Given the description of an element on the screen output the (x, y) to click on. 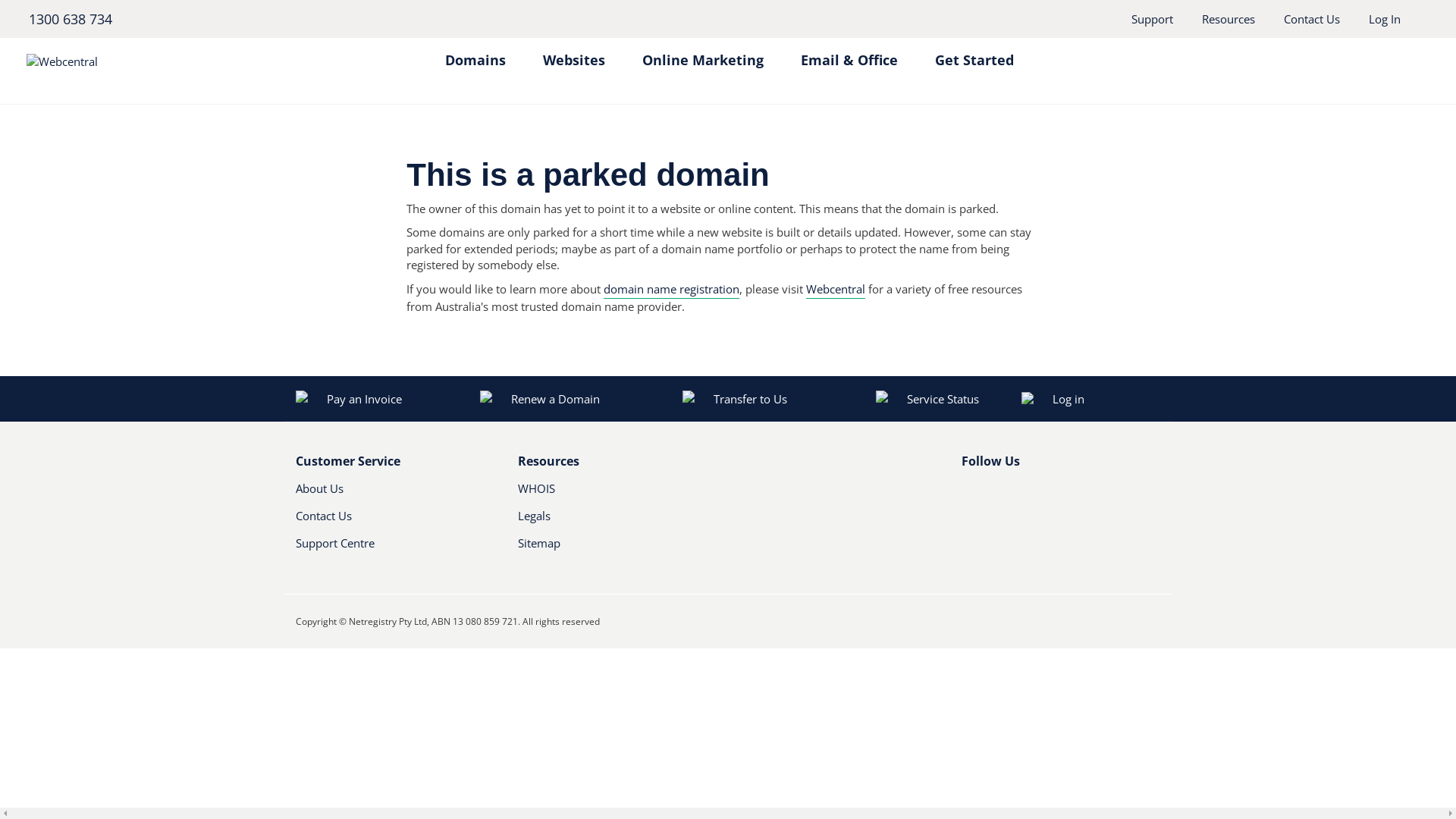
WHOIS Element type: text (601, 494)
Facebook Element type: hover (970, 494)
domain name registration Element type: text (671, 289)
Sitemap Element type: text (616, 548)
Legals Element type: text (601, 521)
Support Centre Element type: text (395, 548)
Resources Element type: text (1228, 18)
Service Status Element type: text (927, 398)
Websites Element type: text (573, 52)
Support Element type: text (1152, 18)
About Us Element type: text (379, 494)
Youtube Element type: hover (1019, 494)
Contact Us Element type: text (1311, 18)
Get Started Element type: text (973, 52)
1300 638 734 Element type: text (69, 18)
Transfer to Us Element type: text (734, 398)
Pay an Invoice Element type: text (348, 398)
Twitter Element type: hover (993, 494)
Email & Office Element type: text (848, 52)
Contact Us Element type: text (379, 521)
Log in Element type: text (1111, 398)
Domains Element type: text (474, 52)
Renew a Domain Element type: text (540, 398)
Webcentral Element type: hover (163, 60)
RSS Element type: hover (1045, 494)
Online Marketing Element type: text (701, 52)
Log In Element type: text (1384, 18)
Webcentral Element type: text (835, 289)
